Given the description of an element on the screen output the (x, y) to click on. 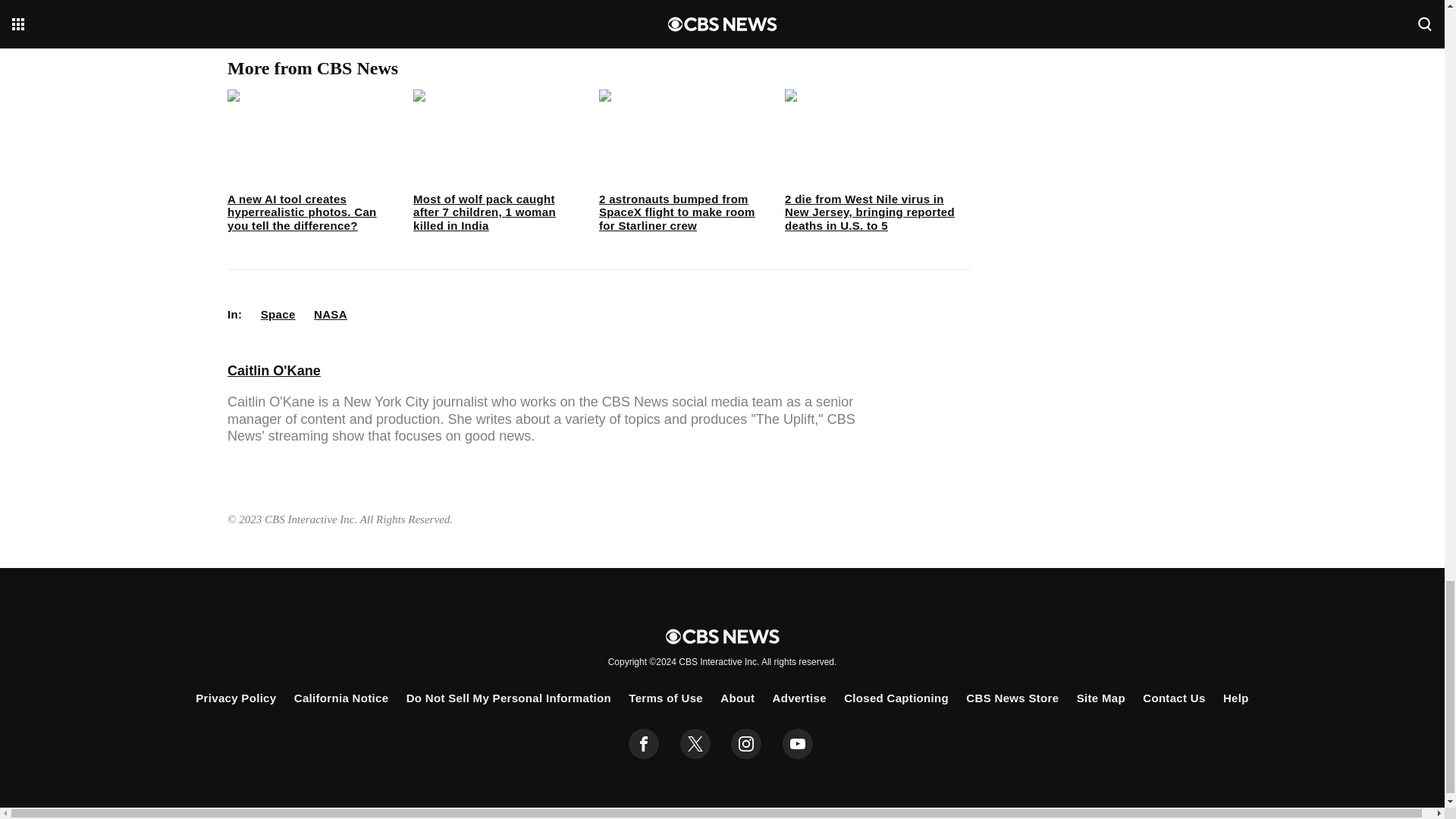
twitter (694, 743)
facebook (643, 743)
instagram (745, 743)
youtube (797, 743)
